Given the description of an element on the screen output the (x, y) to click on. 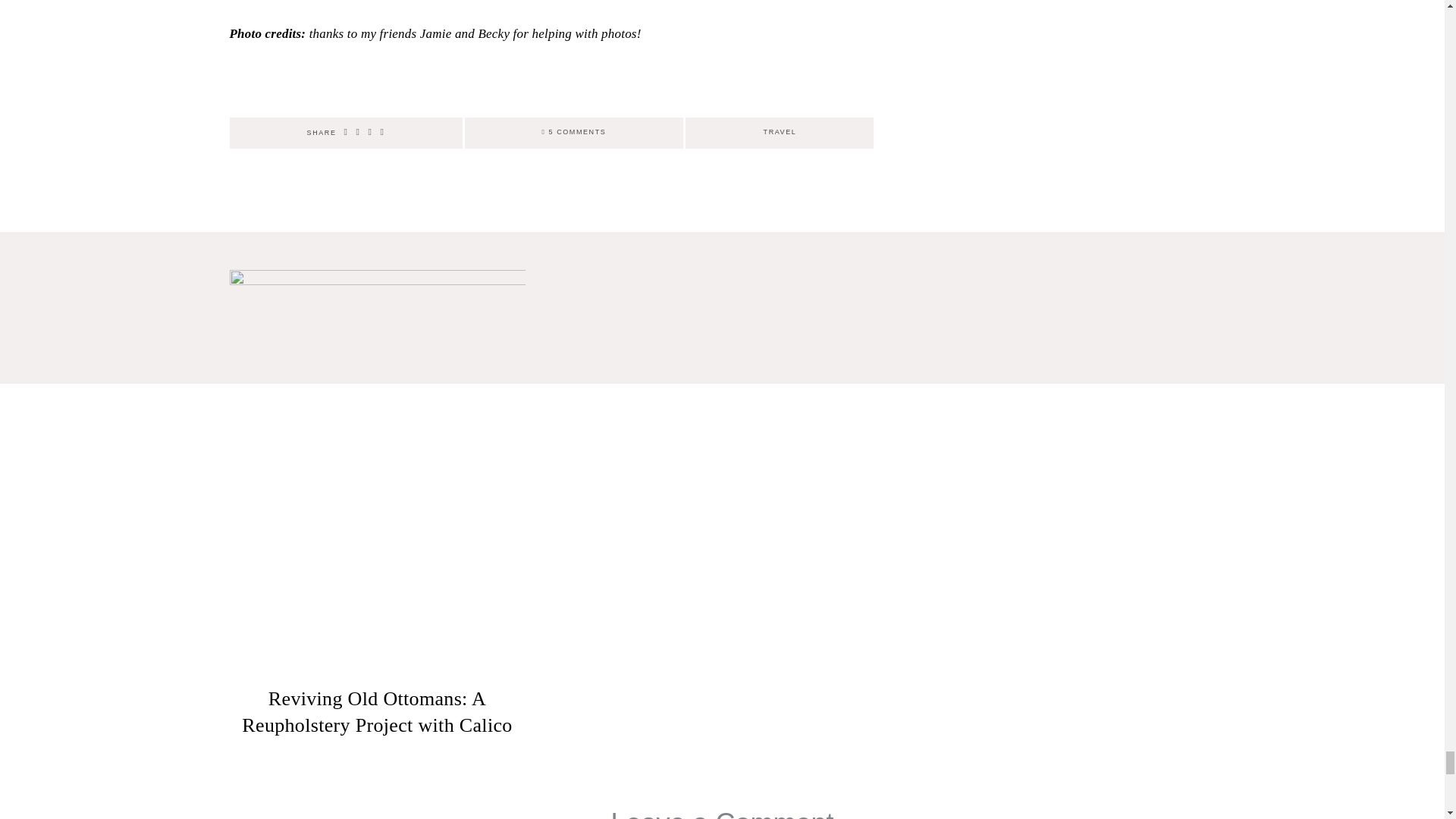
5 COMMENTS (574, 131)
View all posts in Travel (779, 131)
TRAVEL (779, 131)
